Given the description of an element on the screen output the (x, y) to click on. 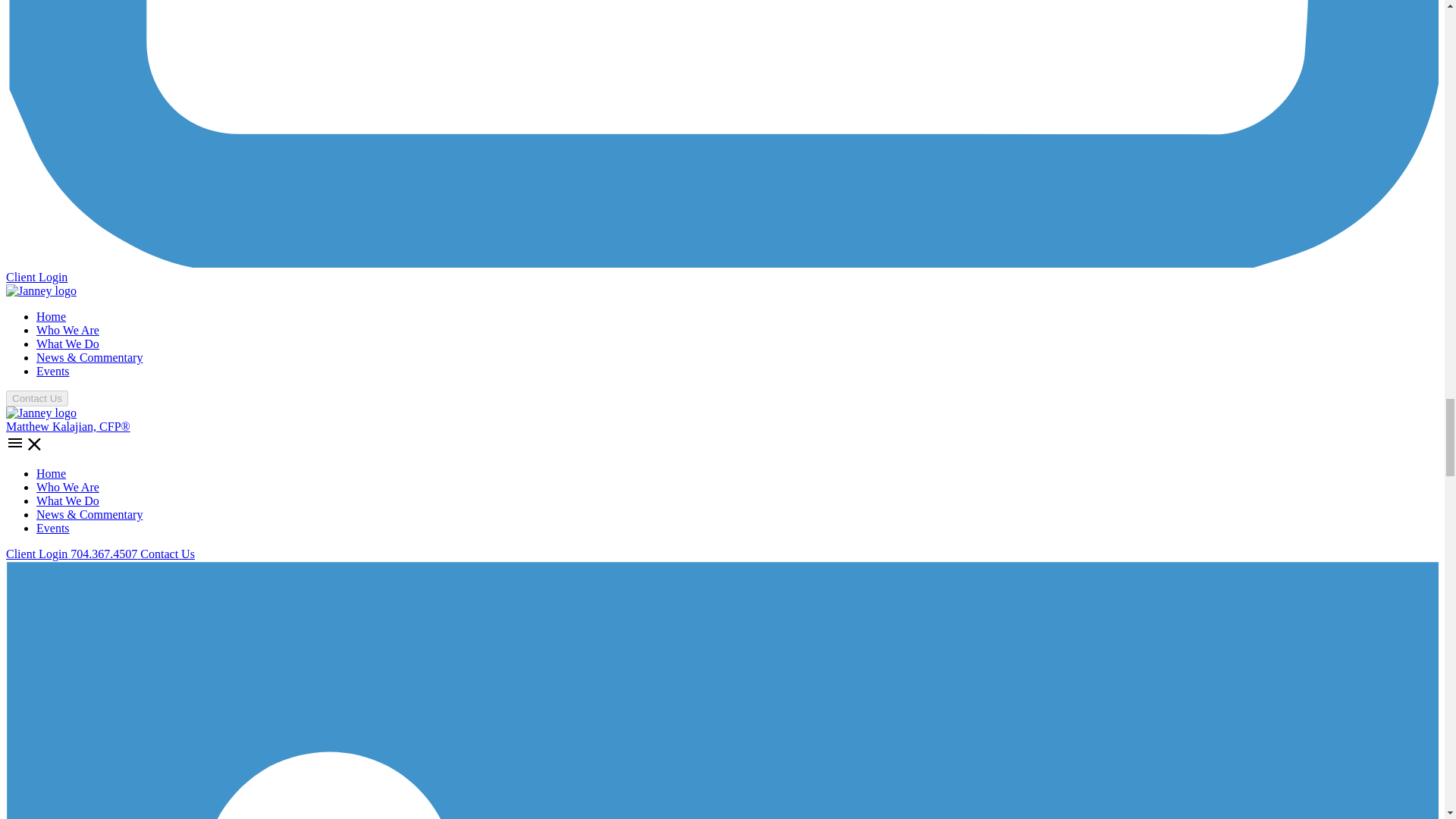
Contact Us (36, 398)
What We Do (67, 500)
704.367.4507 (104, 553)
Who We Are (67, 486)
Contact Us (36, 397)
Contact Us (167, 553)
Home (50, 316)
Home (50, 472)
Who We Are (67, 329)
Events (52, 370)
